Given the description of an element on the screen output the (x, y) to click on. 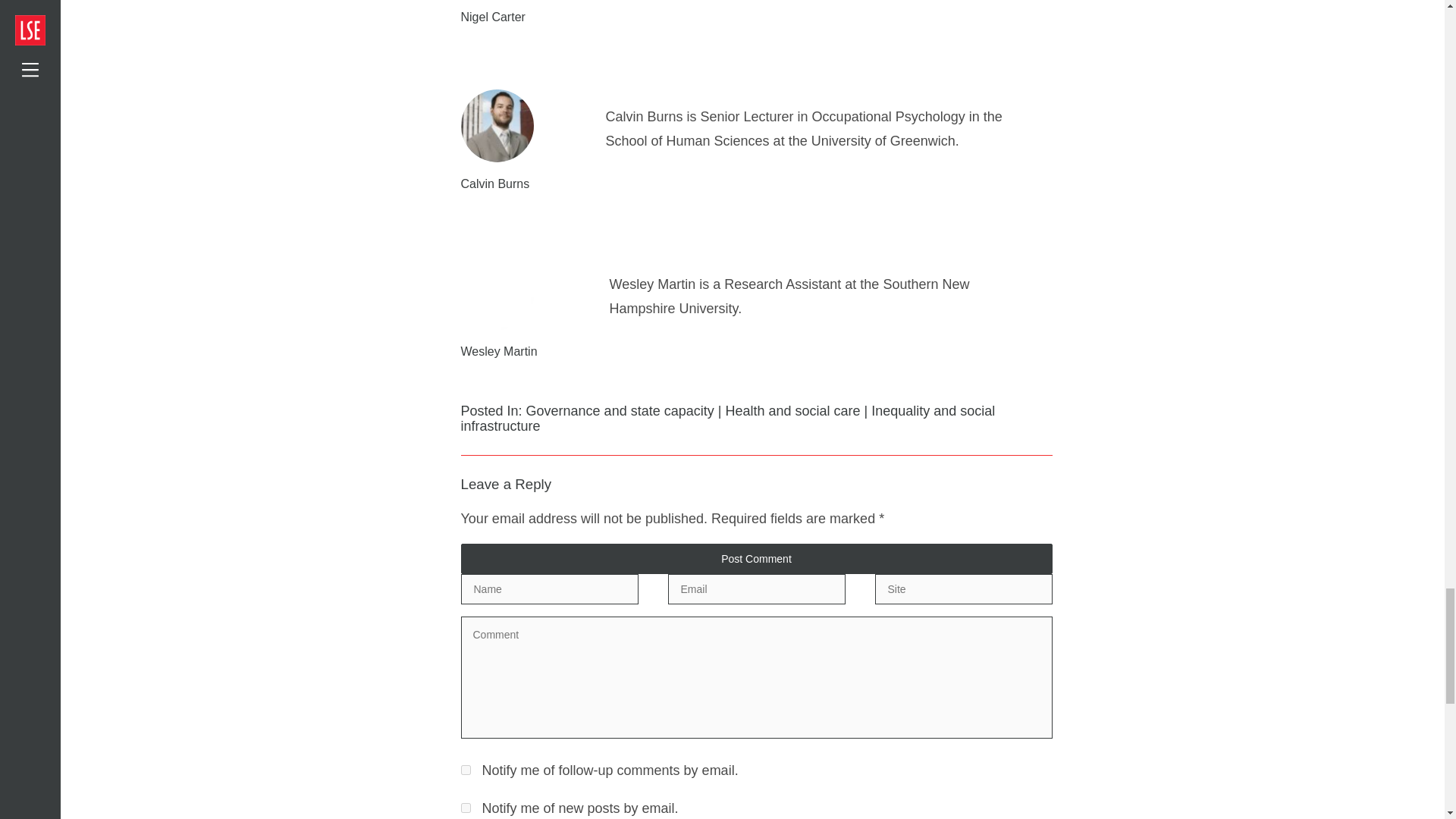
Post Comment (756, 558)
subscribe (465, 769)
Post Comment (756, 558)
subscribe (465, 808)
